Given the description of an element on the screen output the (x, y) to click on. 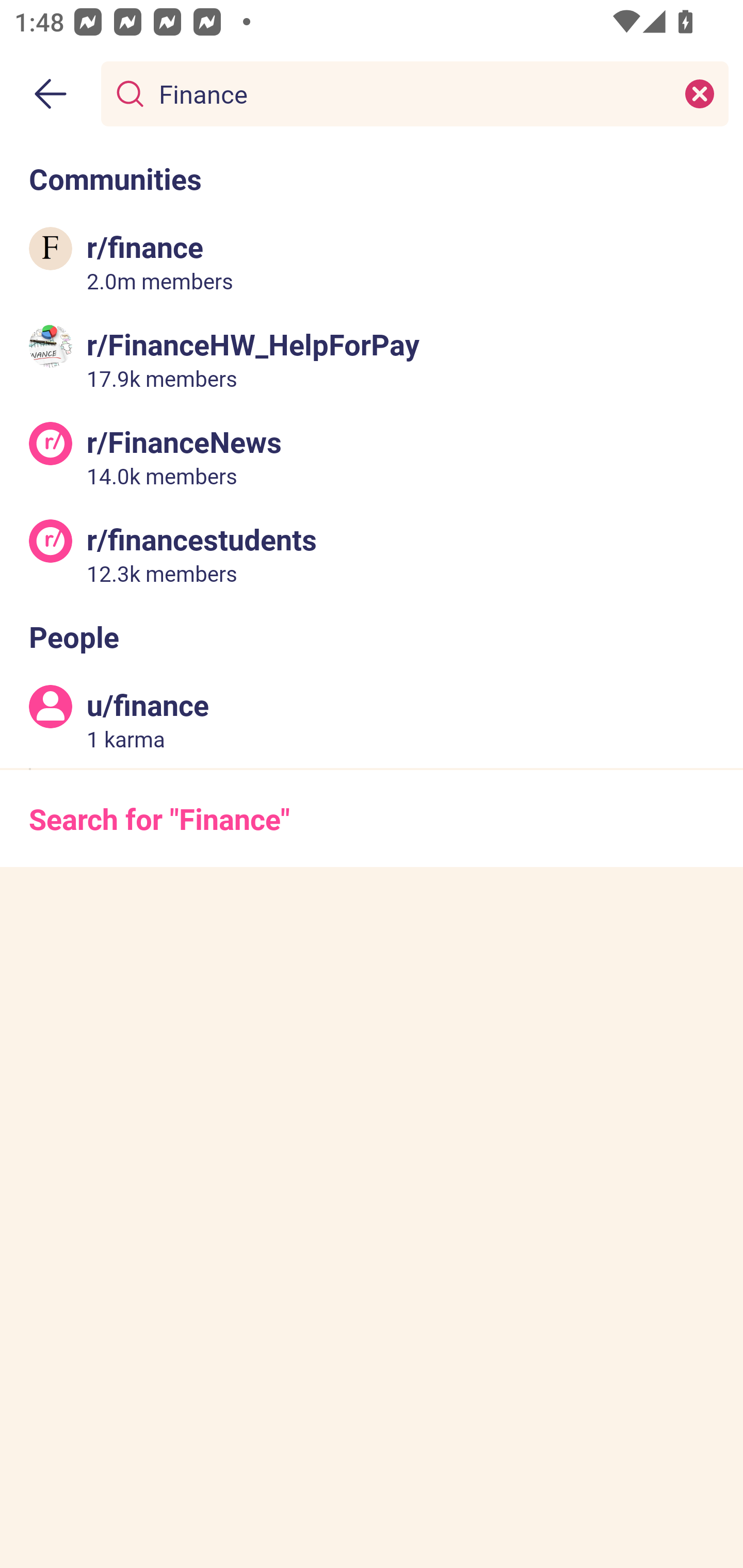
Back (50, 93)
Finance (410, 93)
Clear search (699, 93)
r/finance 2.0m members 2.0 million members (371, 261)
r/FinanceNews 14.0k members 14.0 thousand members (371, 455)
u/finance 1 karma 1 karma (371, 719)
Search for "Finance" (371, 818)
